Given the description of an element on the screen output the (x, y) to click on. 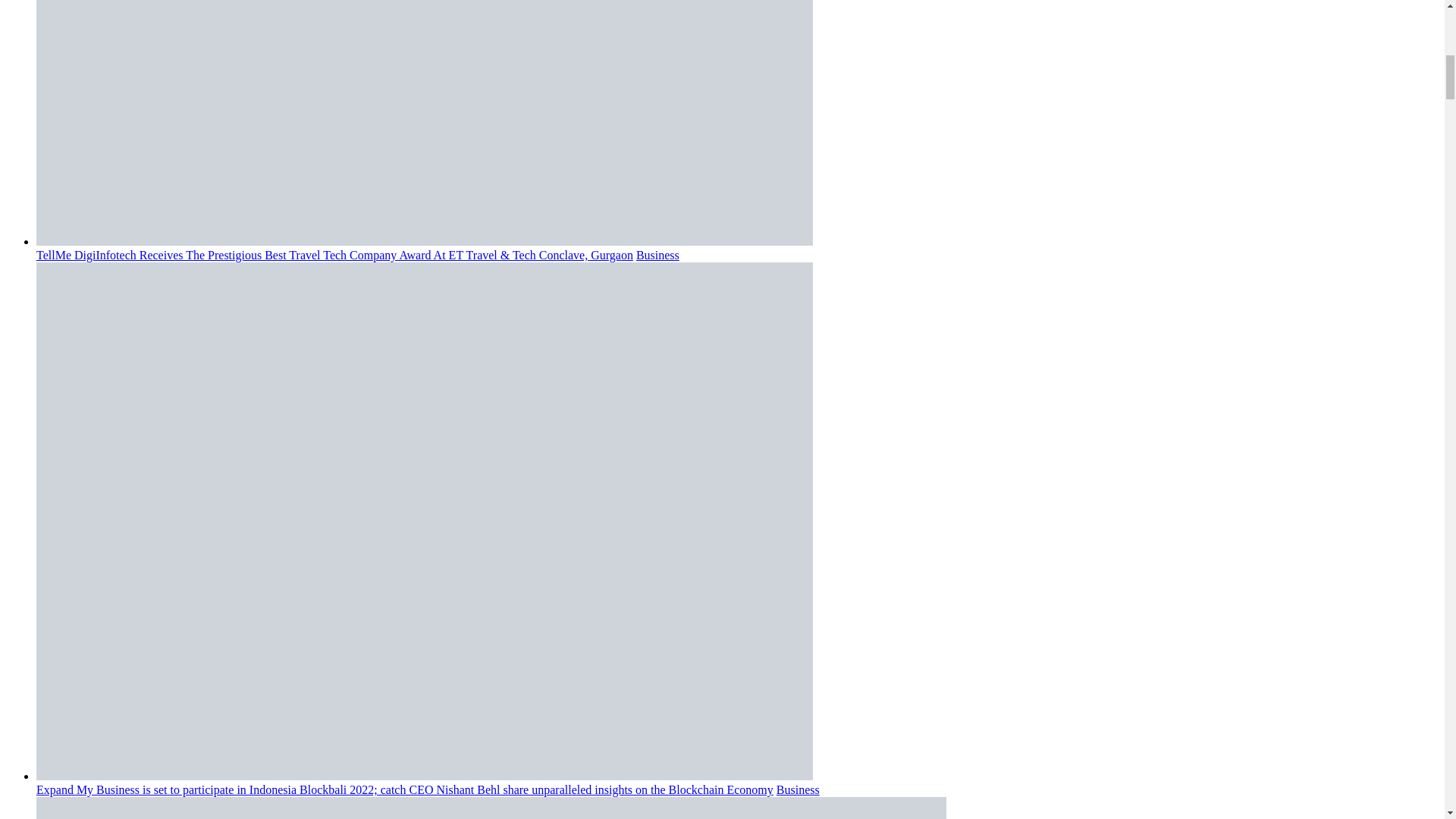
Business (657, 254)
Business (797, 789)
